Given the description of an element on the screen output the (x, y) to click on. 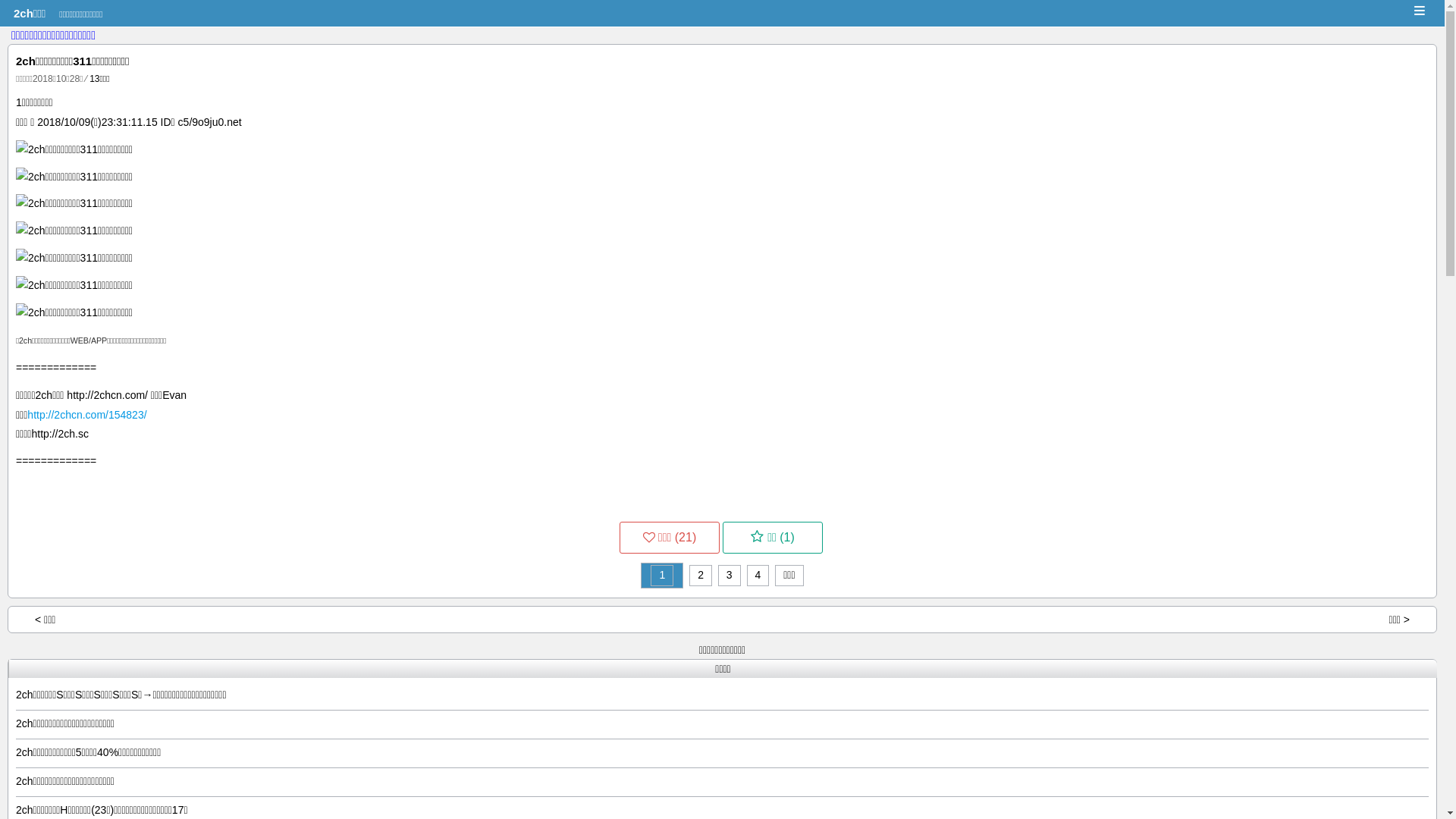
http://2chcn.com/154823/ Element type: text (86, 414)
2 Element type: text (700, 574)
3 Element type: text (729, 574)
4 Element type: text (758, 574)
